Given the description of an element on the screen output the (x, y) to click on. 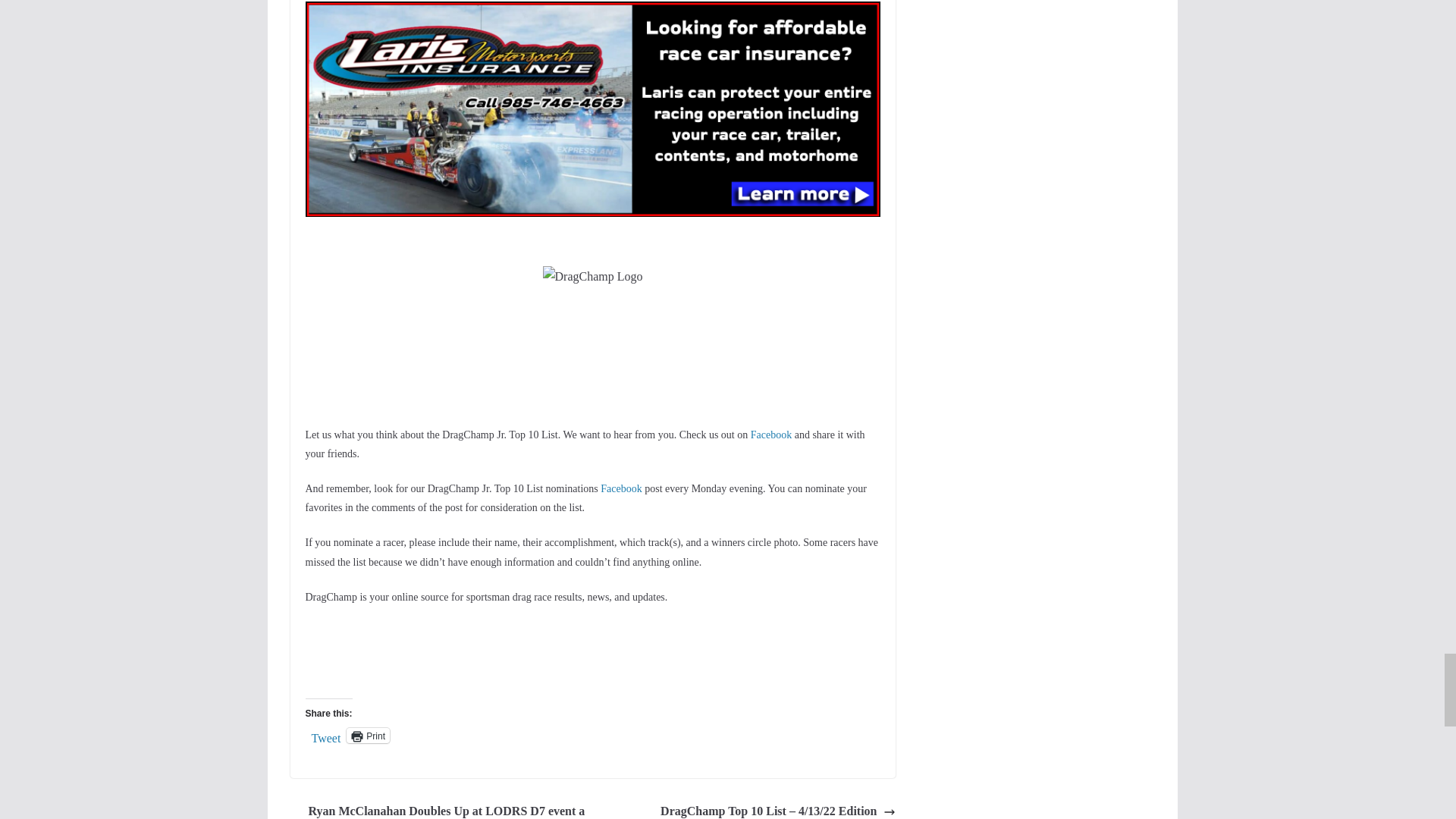
Print (368, 735)
Facebook (771, 434)
Facebook (620, 488)
Tweet (325, 735)
Click to print (368, 735)
Ryan McClanahan Doubles Up at LODRS D7 event at Las Vegas (437, 809)
